Given the description of an element on the screen output the (x, y) to click on. 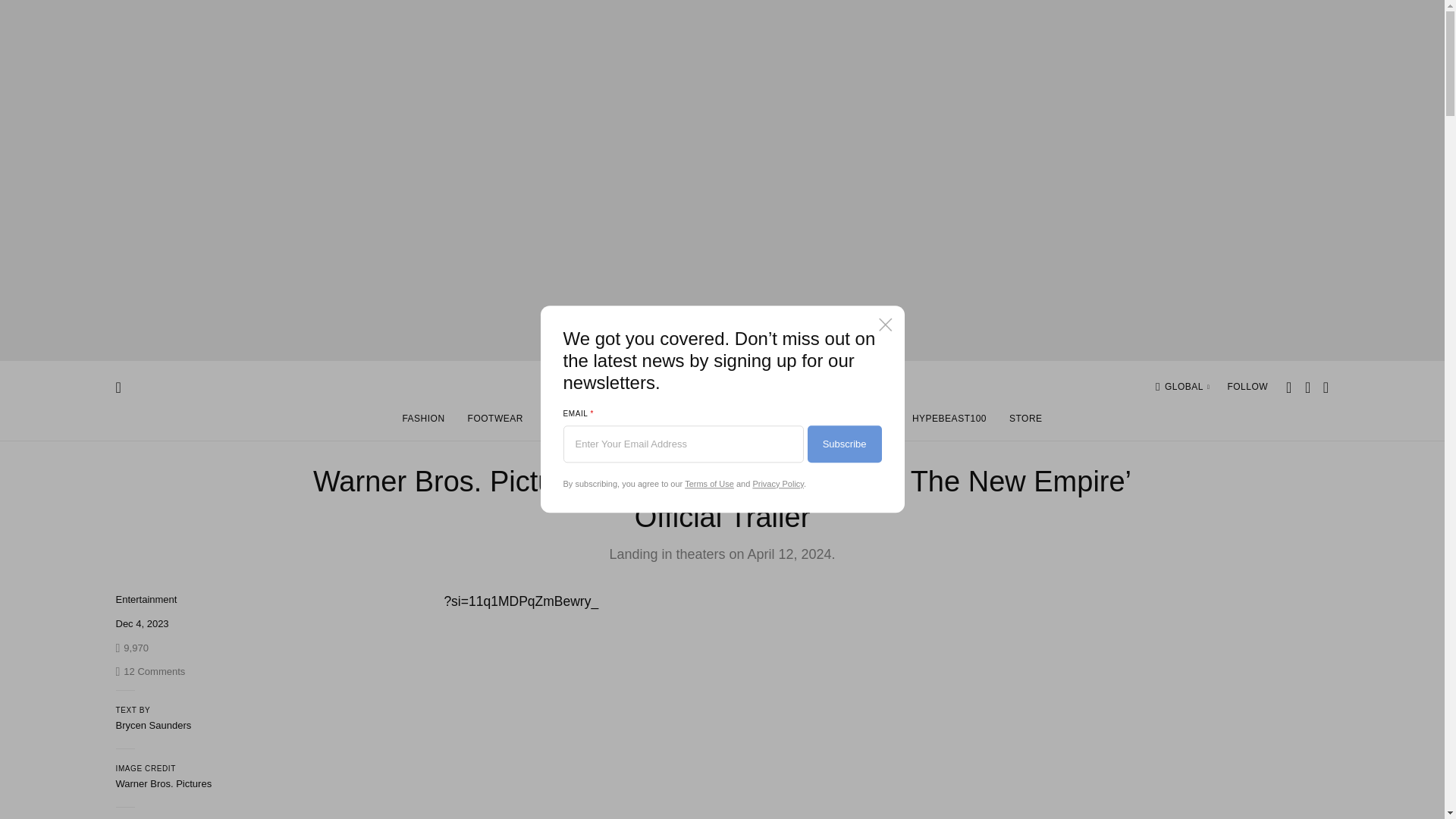
LIFESTYLE (727, 421)
STORE (1025, 421)
Brycen Saunders (152, 725)
FASHION (422, 421)
3rd party ad content (1213, 703)
Entertainment (145, 599)
GLOBAL (149, 671)
MAGAZINE (1187, 387)
HYPEBEAST100 (864, 421)
FOLLOW (949, 421)
DESIGN (1247, 387)
BRANDS (606, 421)
FOOTWEAR (795, 421)
